Given the description of an element on the screen output the (x, y) to click on. 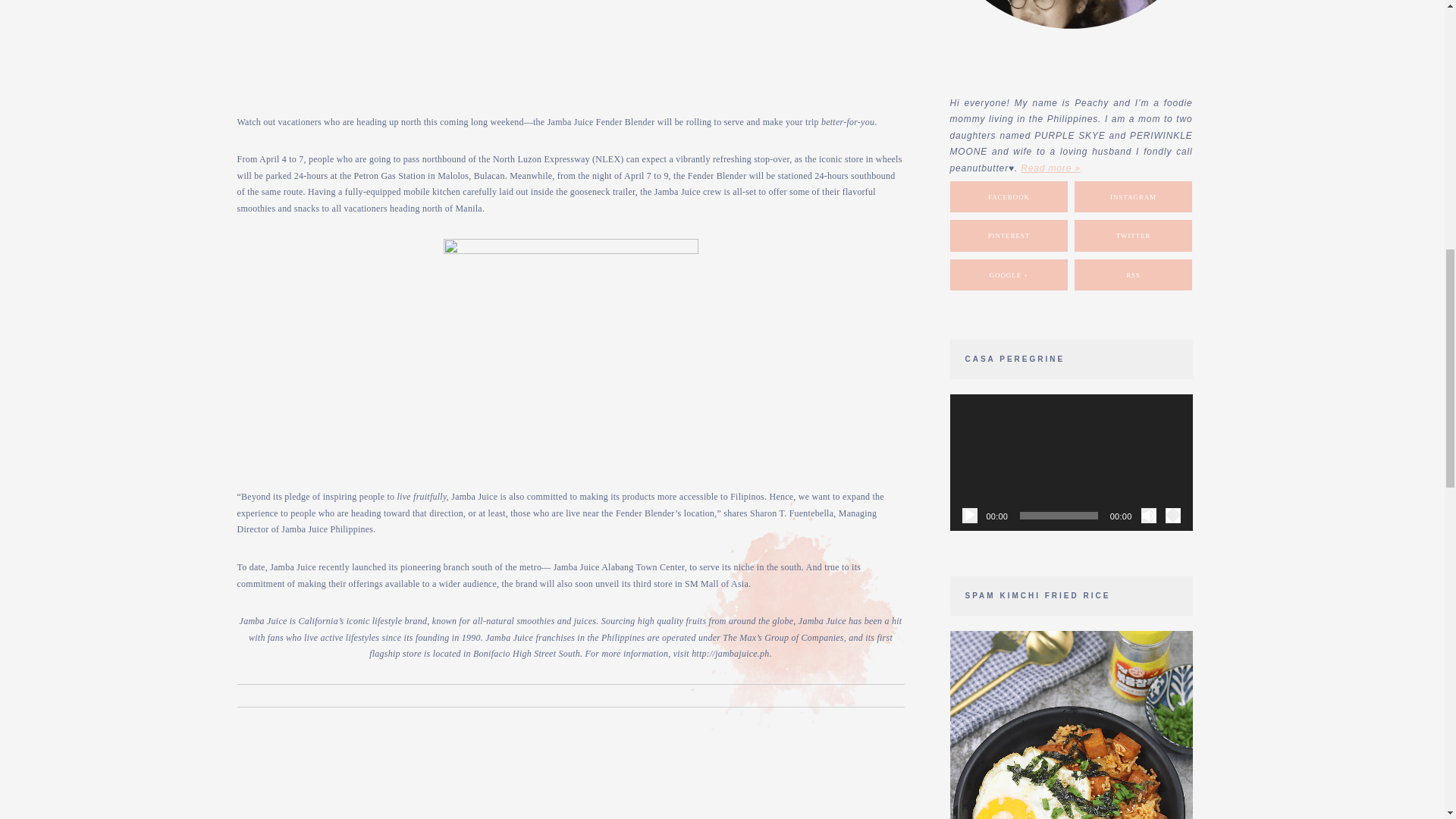
INSTAGRAM (1132, 196)
RSS (1132, 275)
Fullscreen (1171, 515)
FACEBOOK (1008, 196)
Play (968, 515)
TWITTER (1133, 235)
PINTEREST (1009, 235)
Mute (1148, 515)
